Given the description of an element on the screen output the (x, y) to click on. 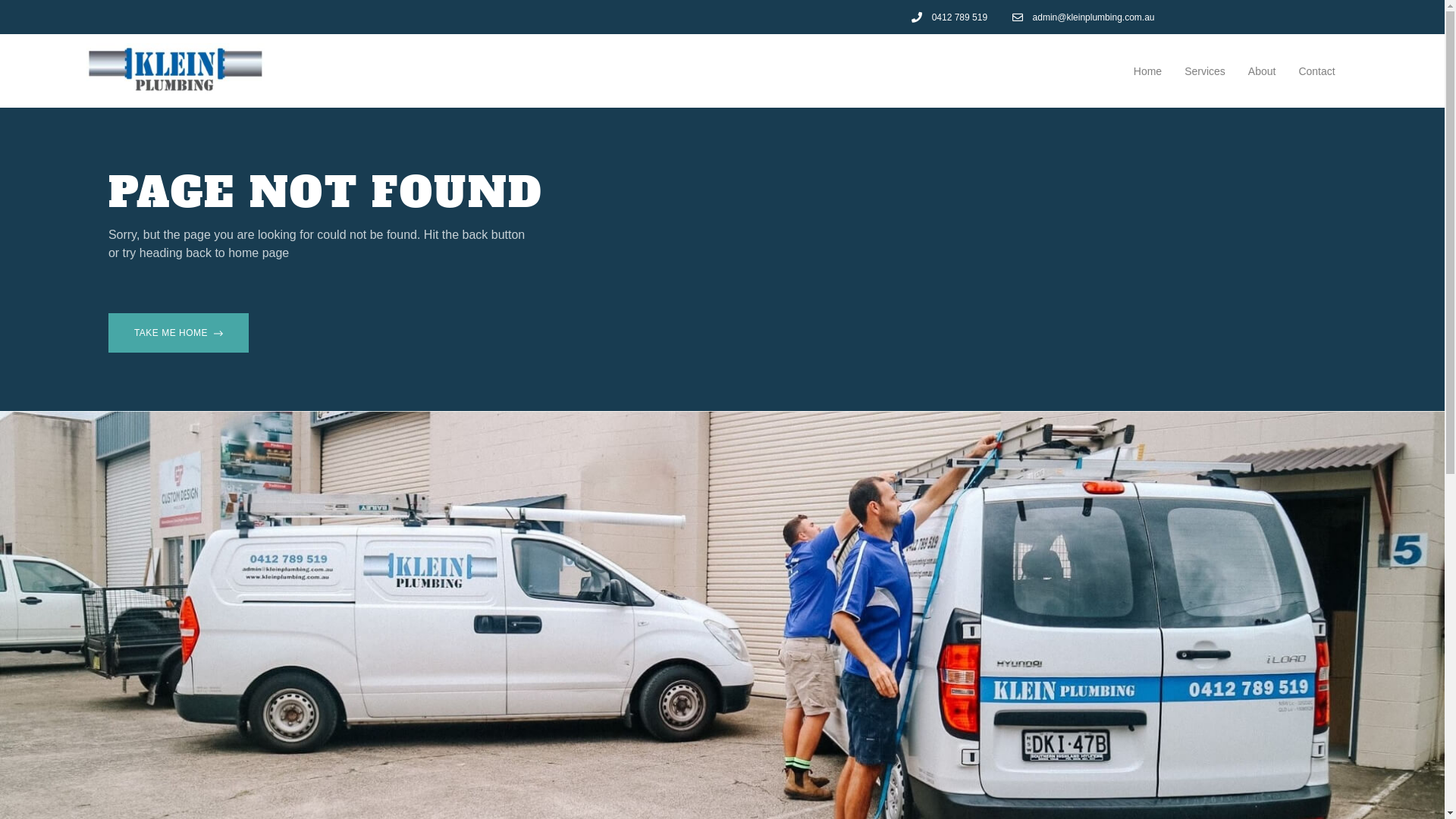
0412 789 519 Element type: text (947, 16)
TAKE ME HOME Element type: text (178, 332)
Contact Element type: text (1316, 71)
Home Element type: text (1147, 71)
admin@kleinplumbing.com.au Element type: text (1081, 16)
About Element type: text (1262, 71)
Services Element type: text (1204, 71)
